Given the description of an element on the screen output the (x, y) to click on. 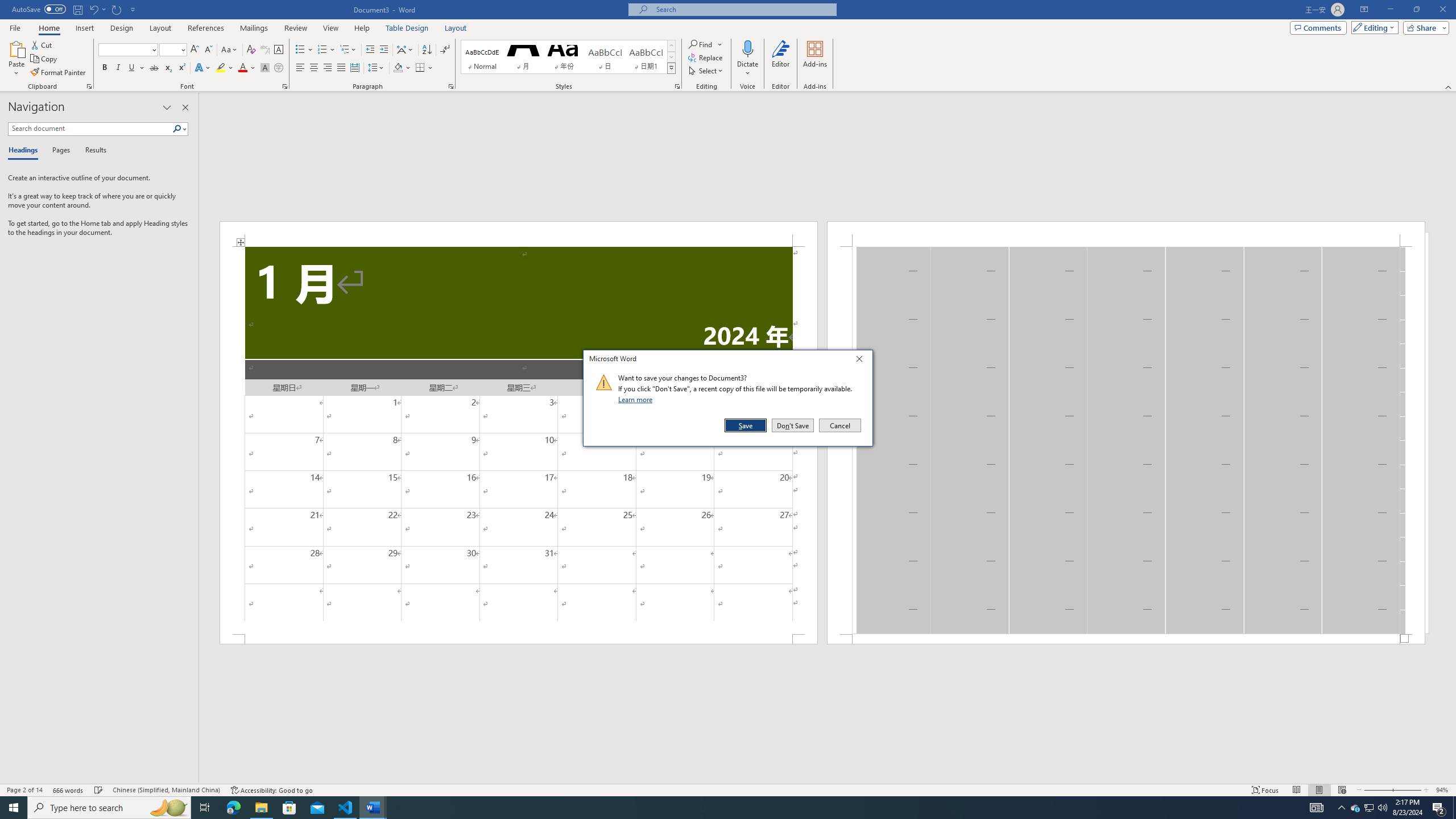
Start (13, 807)
Character Border (278, 49)
AutomationID: QuickStylesGallery (568, 56)
Enclose Characters... (278, 67)
Q2790: 100% (1382, 807)
Styles... (676, 85)
Shrink Font (208, 49)
Type here to search (108, 807)
Visual Studio Code - 1 running window (345, 807)
Class: MsoCommandBar (728, 789)
